Given the description of an element on the screen output the (x, y) to click on. 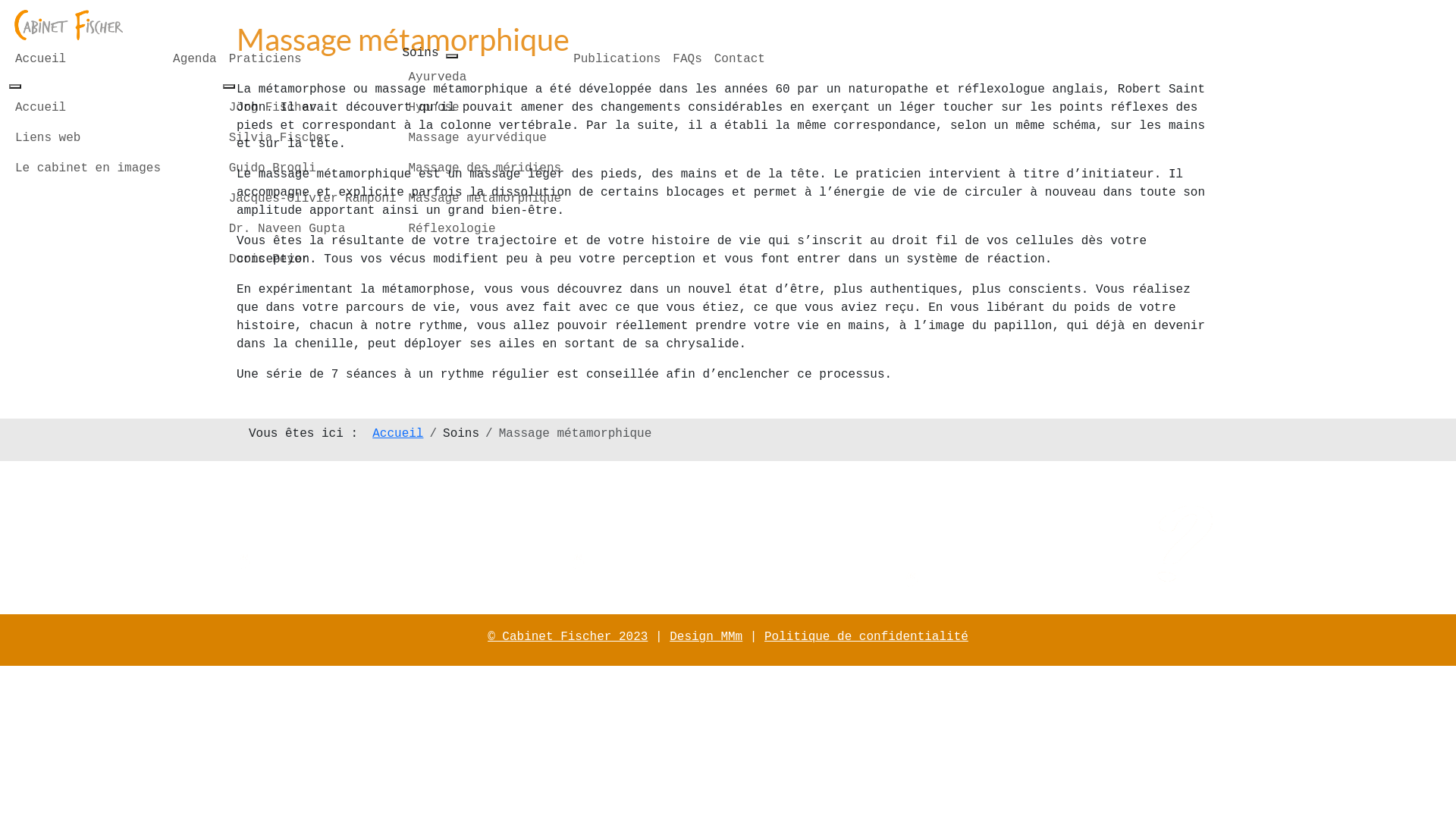
Voir la foire aux questions... Element type: text (1035, 580)
Publications Element type: text (616, 58)
Dr. Naveen Gupta Element type: text (312, 228)
Design MMm Element type: text (705, 636)
Ayurveda Element type: text (484, 77)
Hypnose Element type: text (484, 107)
Liens web Element type: text (87, 137)
Le cabinet en images Element type: text (87, 168)
Silvia Fischer Element type: text (312, 137)
Contact Element type: text (739, 58)
Agenda Element type: text (194, 58)
Accueil Element type: text (87, 58)
Praticiens Element type: text (312, 58)
FAQs Element type: text (686, 58)
Guido Brogli Element type: text (312, 168)
Accueil Element type: text (397, 433)
Jacques-Olivier Ramponi Element type: text (312, 198)
Accueil Element type: text (87, 107)
Doris Peyer Element type: text (312, 259)
